Given the description of an element on the screen output the (x, y) to click on. 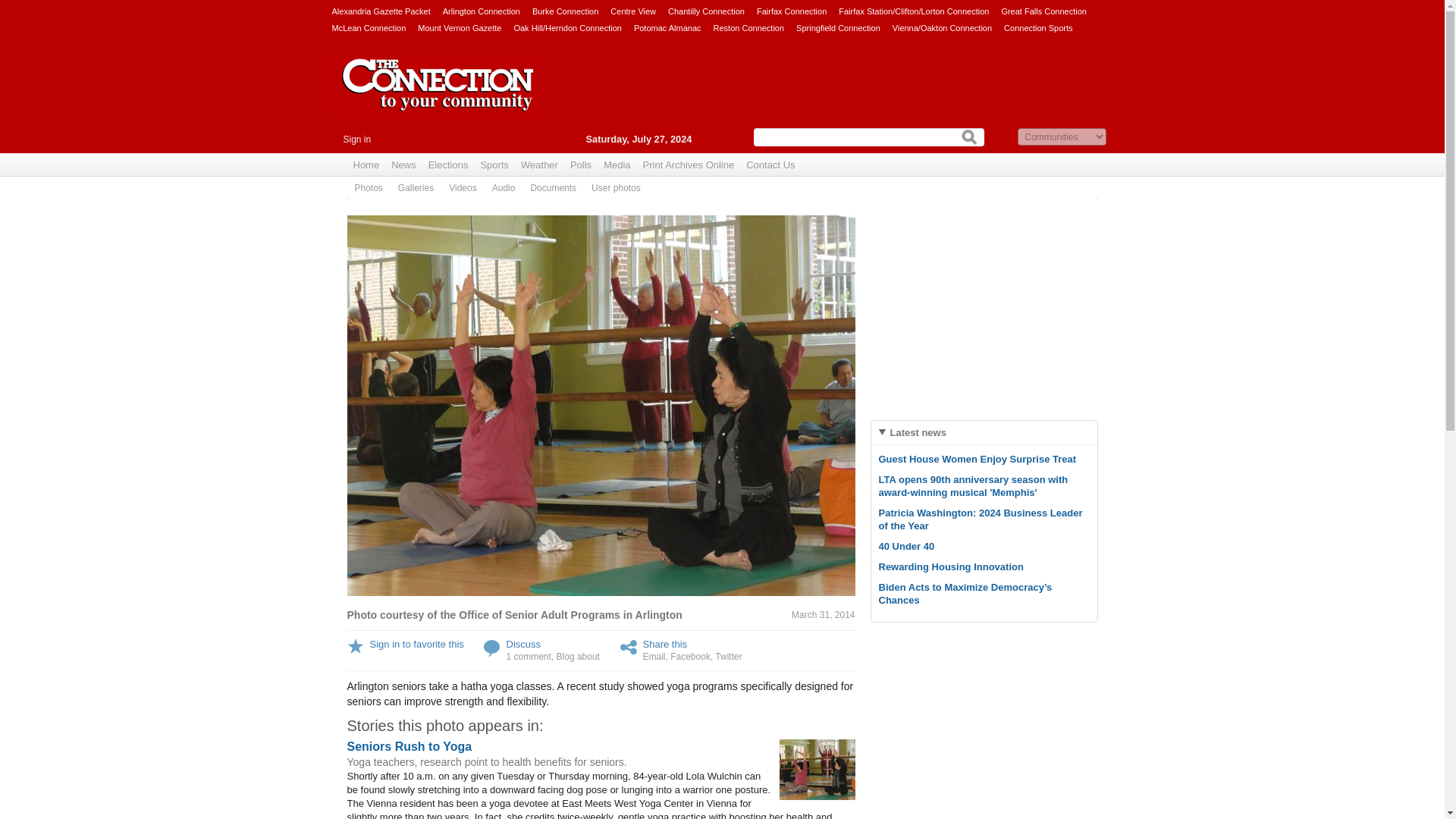
The Connection (437, 96)
Burke Connection (565, 11)
News (403, 164)
Sign in (356, 139)
Connection Sports (1038, 27)
Chantilly Connection (706, 11)
Reston Connection (748, 27)
Potomac Almanac (667, 27)
Centre View (633, 11)
Elections (448, 164)
Springfield Connection (838, 27)
McLean Connection (368, 27)
Arlington Connection (480, 11)
Great Falls Connection (1043, 11)
Mount Vernon Gazette (458, 27)
